Given the description of an element on the screen output the (x, y) to click on. 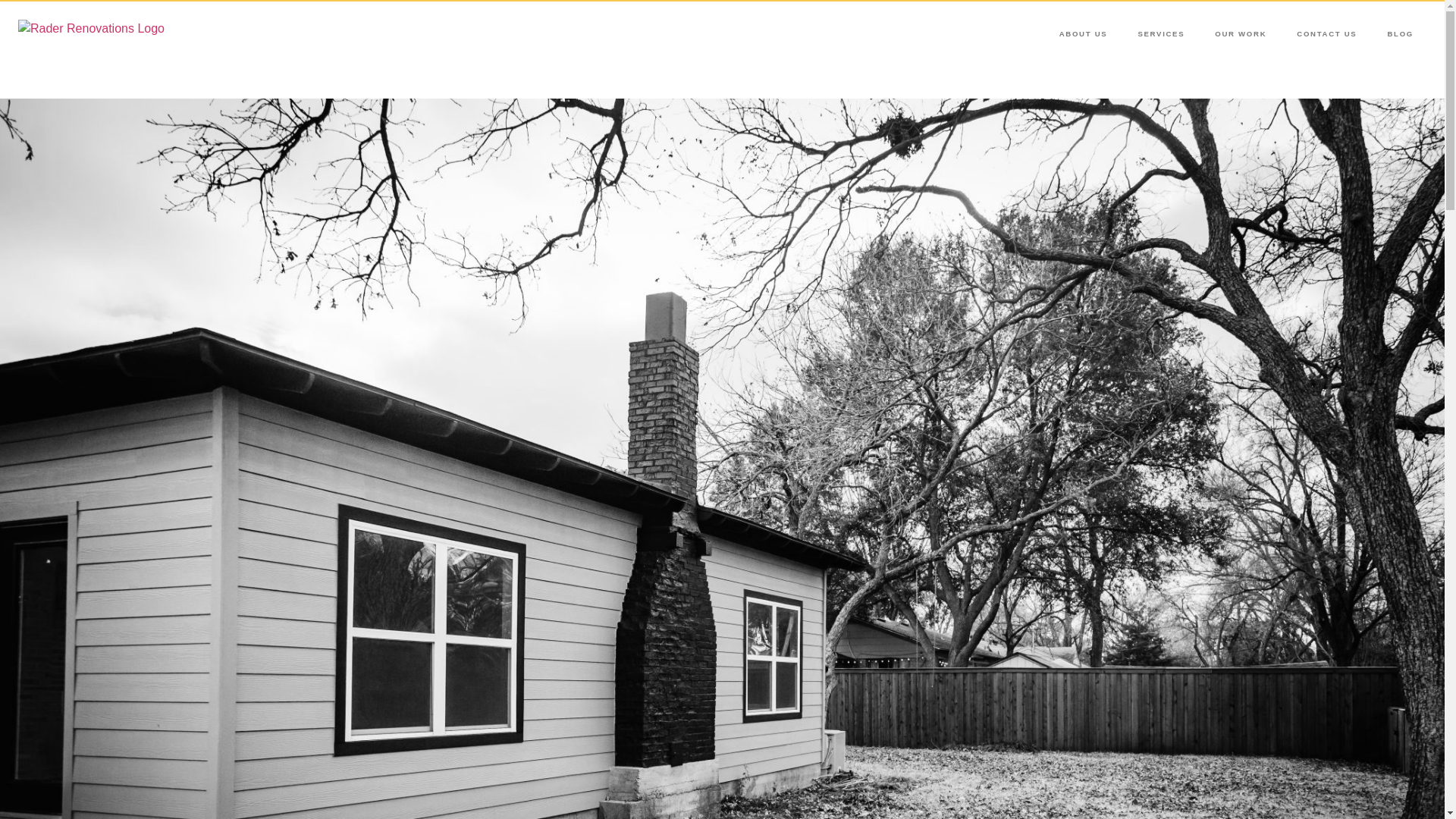
OUR WORK (1240, 33)
SERVICES (1160, 33)
BLOG (1399, 33)
CONTACT US (1326, 33)
ABOUT US (1082, 33)
